Given the description of an element on the screen output the (x, y) to click on. 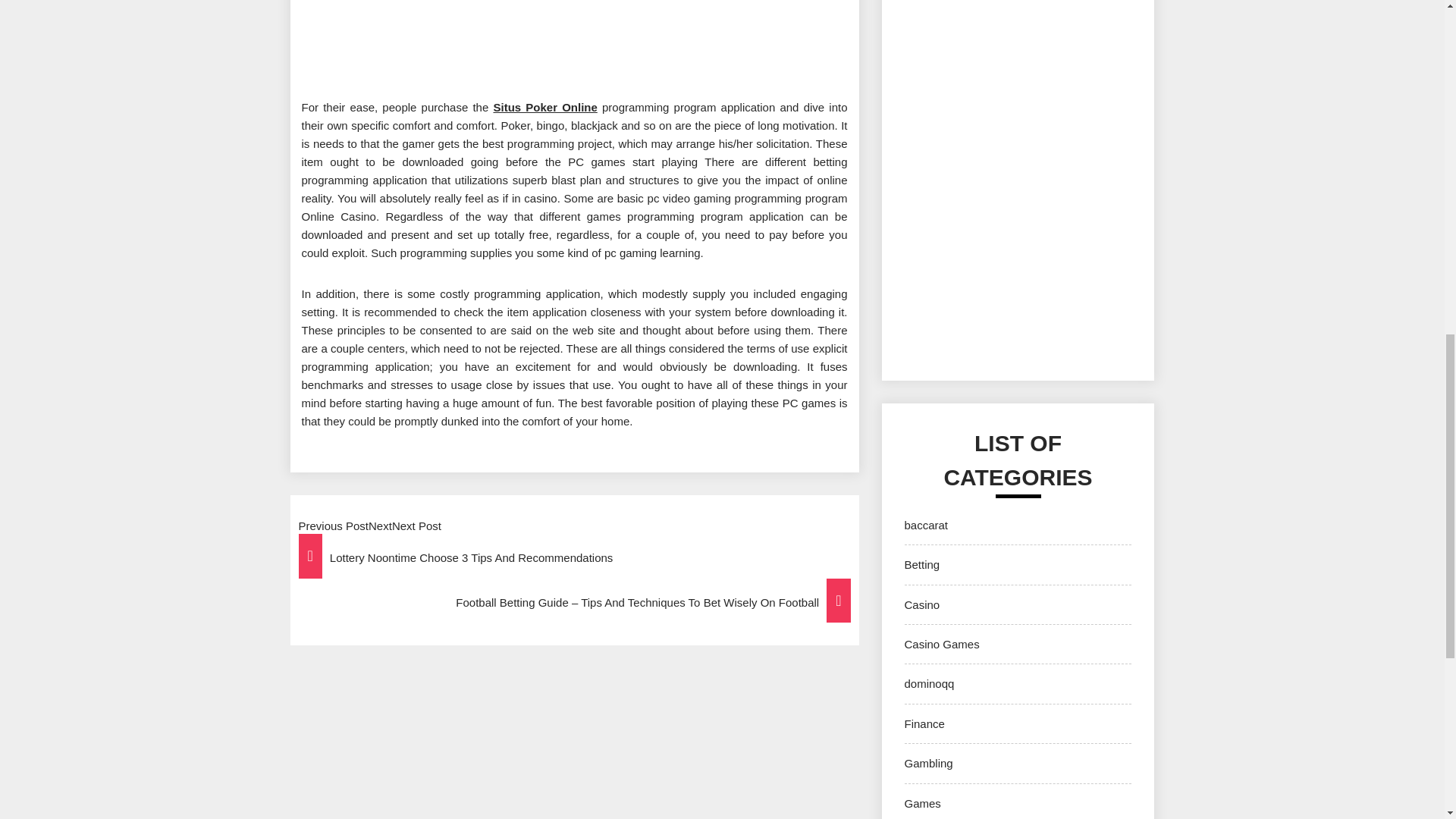
Finance (923, 723)
Betting (921, 563)
baccarat (925, 524)
Gambling (928, 762)
dominoqq (928, 683)
Casino (921, 604)
Games (922, 802)
Situs Poker Online (544, 106)
Casino Games (941, 644)
